Given the description of an element on the screen output the (x, y) to click on. 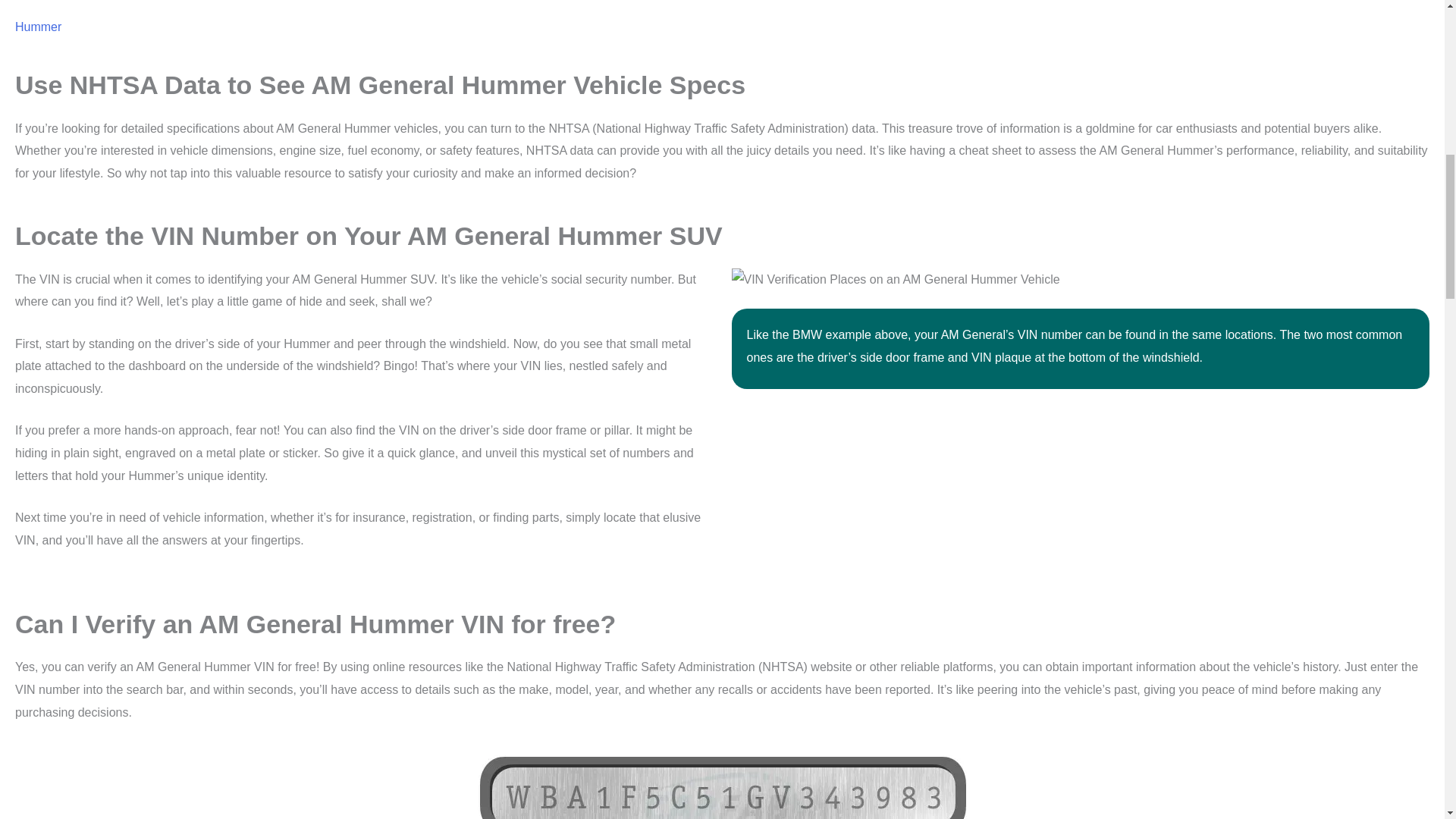
Hummer (37, 26)
